Given the description of an element on the screen output the (x, y) to click on. 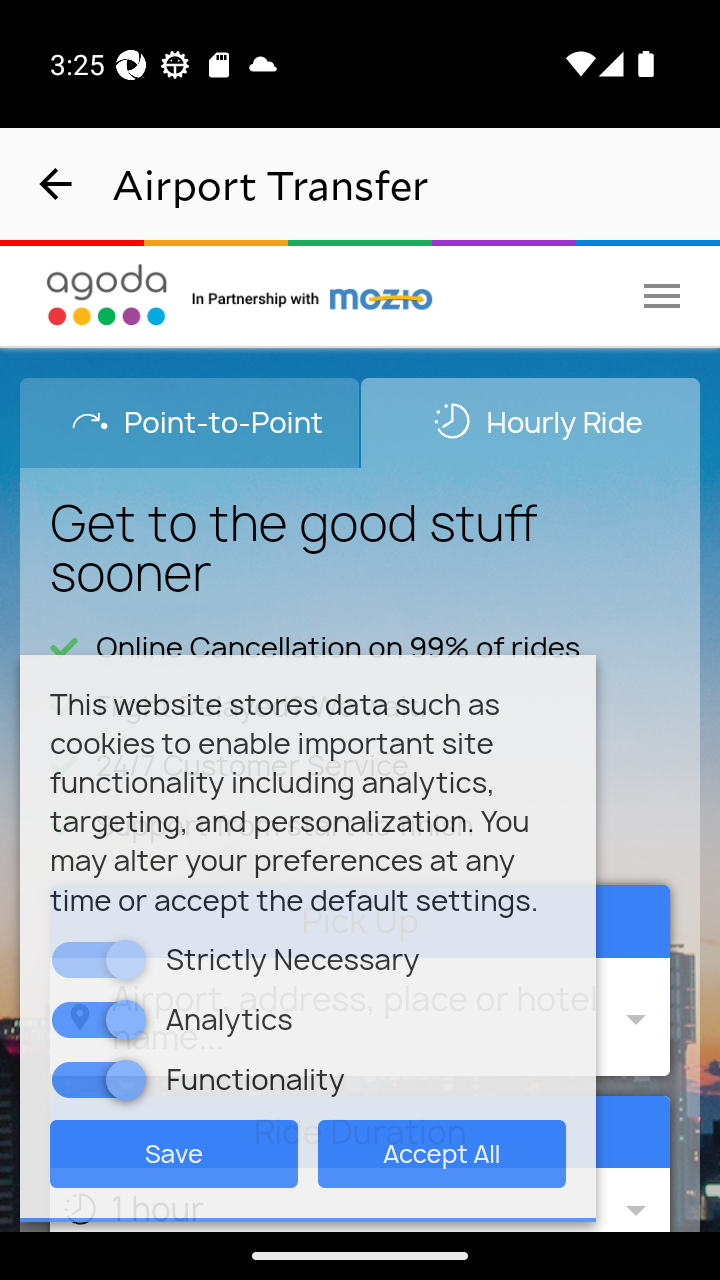
navigation_button (56, 184)
agoda.mozio (313, 295)
menu (661, 295)
Point-to-Point (190, 422)
Hourly Ride (529, 422)
Strictly Necessary (125, 959)
Analytics (125, 1018)
Functionality (125, 1078)
Save (173, 1152)
Accept All (441, 1152)
